Given the description of an element on the screen output the (x, y) to click on. 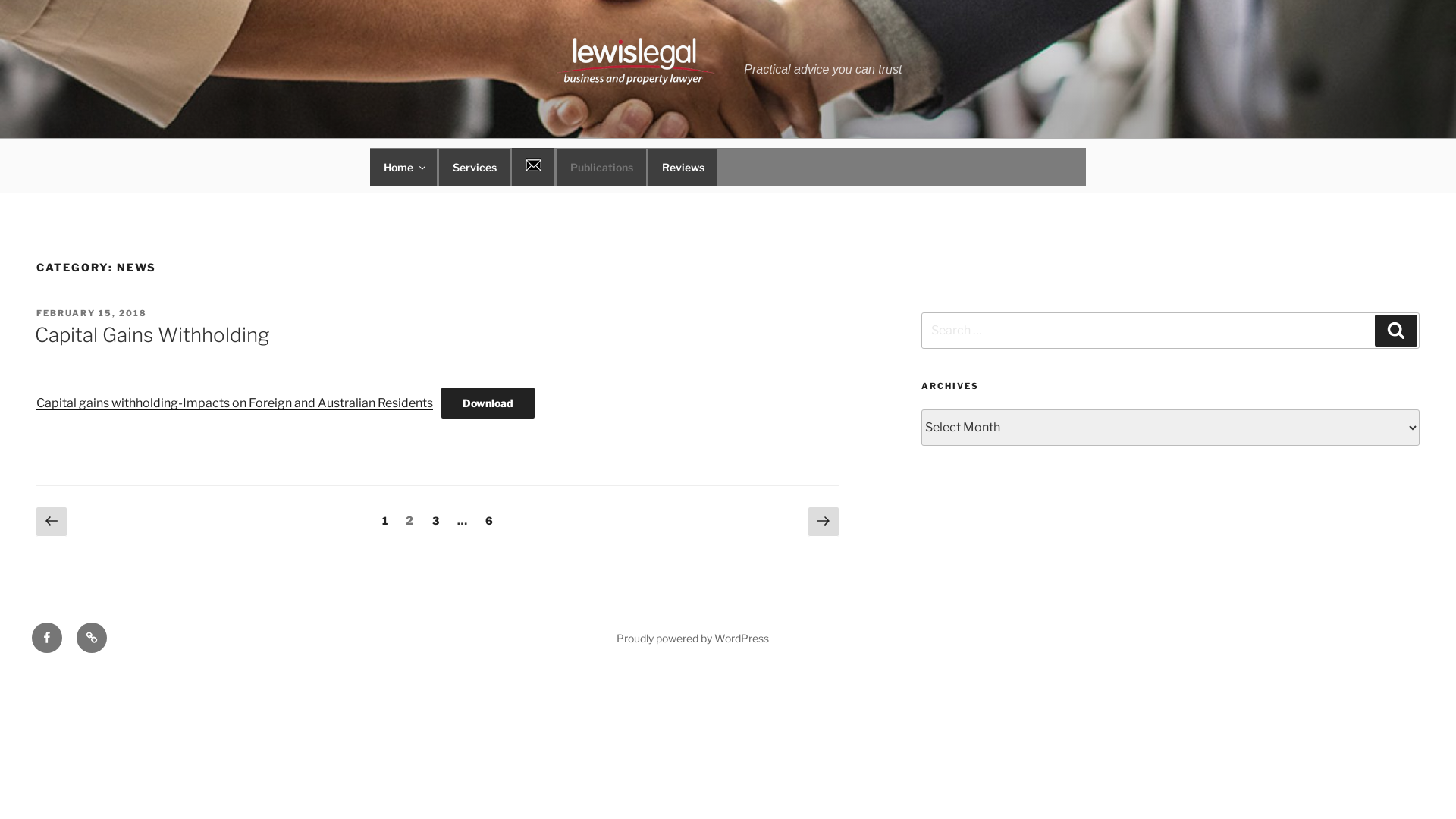
Reviews Element type: text (682, 166)
Proudly powered by WordPress Element type: text (692, 637)
Page
1 Element type: text (384, 520)
Search Element type: text (1395, 330)
FEBRUARY 15, 2018 Element type: text (91, 312)
Page
3 Element type: text (435, 520)
Services Element type: text (474, 166)
Download Element type: text (487, 402)
Page
6 Element type: text (489, 520)
Next page Element type: text (823, 522)
Facebook Element type: text (46, 637)
Home Element type: text (403, 166)
Previous page Element type: text (51, 522)
Capital Gains Withholding Element type: text (151, 334)
Reviews Element type: text (91, 637)
Publications Element type: text (601, 166)
